Given the description of an element on the screen output the (x, y) to click on. 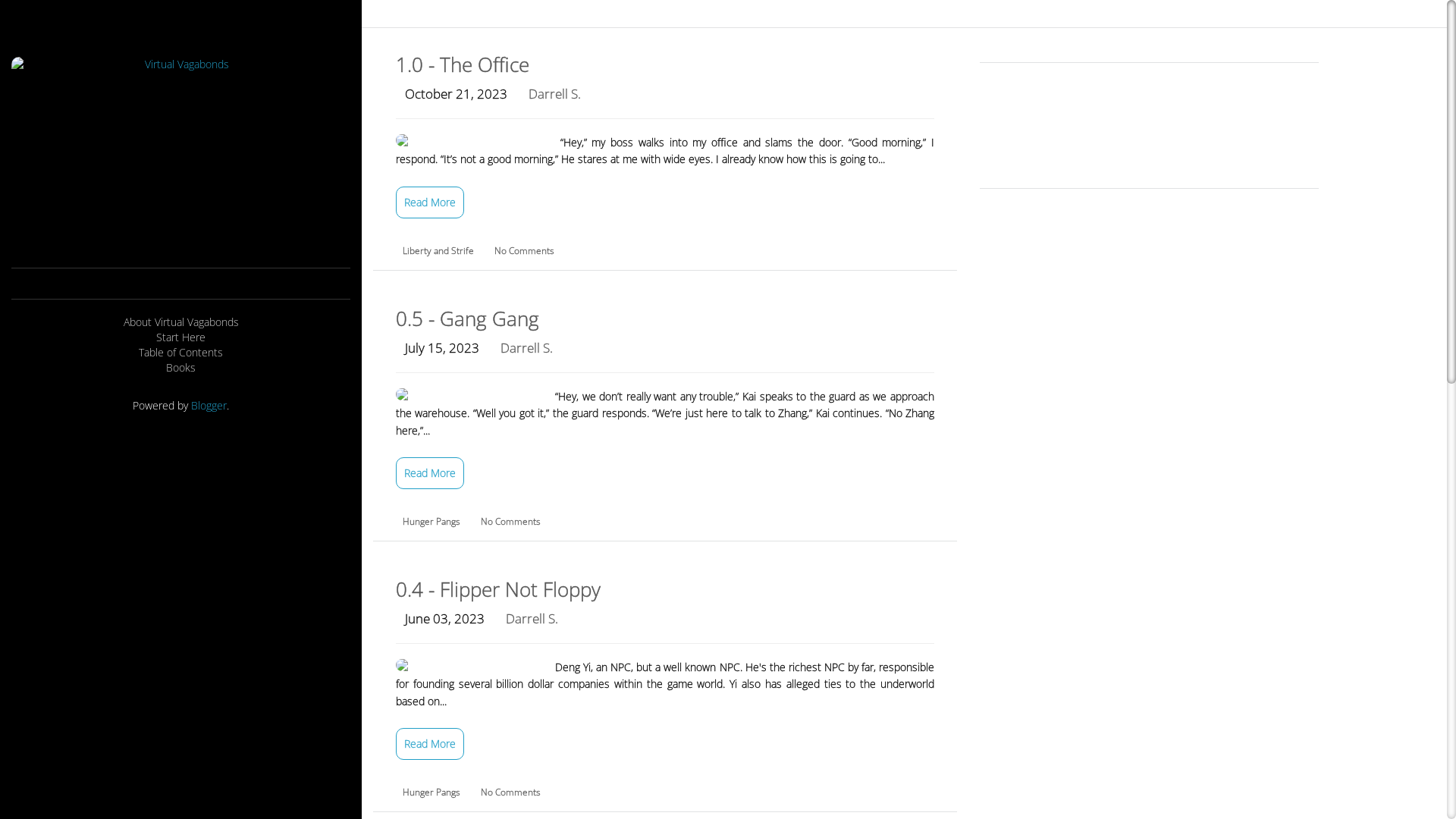
Darrell S. Element type: text (531, 618)
No Comments Element type: text (510, 520)
Darrell S. Element type: text (554, 93)
0 comments Element type: text (400, 556)
Liberty and Strife Element type: text (439, 250)
Read More Element type: text (429, 202)
Books Element type: text (180, 367)
About Virtual Vagabonds Element type: text (180, 321)
0.4 - Flipper Not Floppy Element type: text (497, 588)
Hunger Pangs Element type: text (432, 791)
Start Here Element type: text (180, 337)
Read More Element type: text (429, 473)
Table of Contents Element type: text (180, 352)
0 comments Element type: text (400, 286)
0.5 - Gang Gang Element type: text (467, 318)
No Comments Element type: text (510, 791)
Darrell S. Element type: text (526, 346)
Read More Element type: text (429, 743)
Blogger Element type: text (208, 405)
Hunger Pangs Element type: text (432, 520)
No Comments Element type: text (524, 250)
1.0 - The Office Element type: text (462, 64)
